Given the description of an element on the screen output the (x, y) to click on. 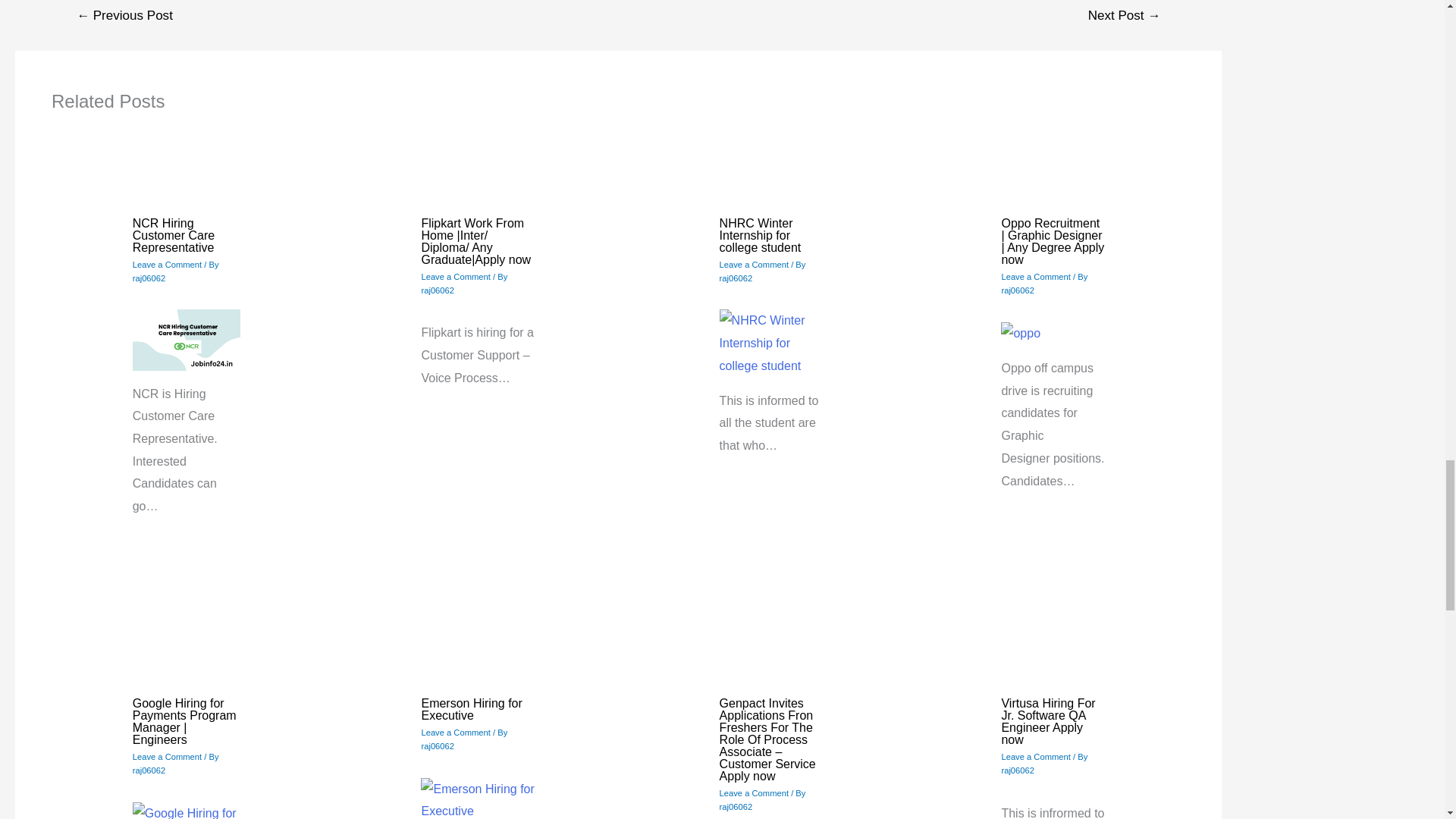
raj06062 (735, 277)
NCR Hiring Customer Care Representative (173, 235)
Leave a Comment (454, 276)
Leave a Comment (754, 264)
NCR Hiring Customer Care Representative 4 (186, 339)
Leave a Comment (167, 264)
NHRC Winter Internship for college student (760, 235)
View all posts by raj06062 (437, 289)
NHRC Winter Internship for college student 5 (770, 342)
raj06062 (437, 289)
